Given the description of an element on the screen output the (x, y) to click on. 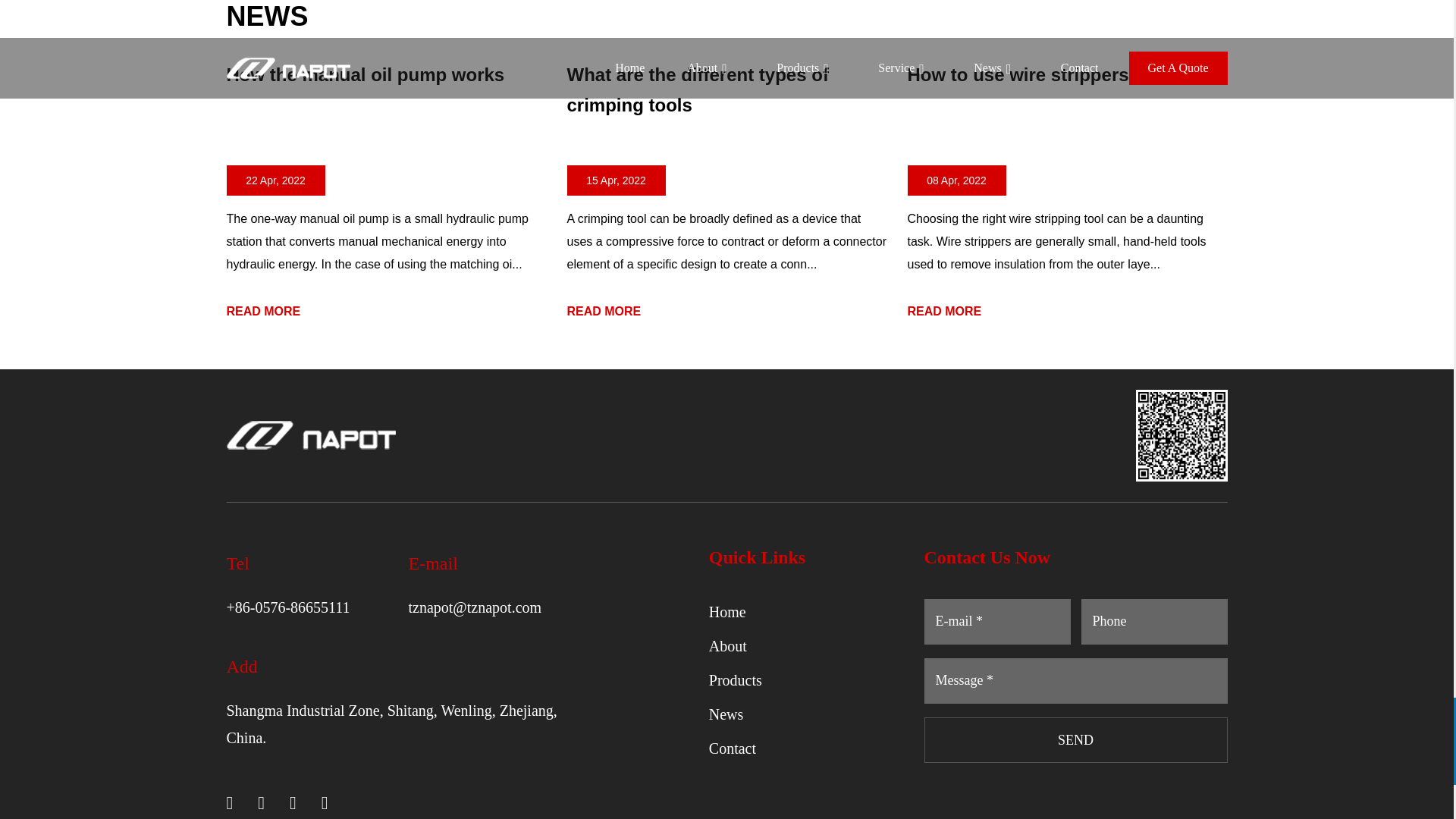
SEND (1075, 739)
